Given the description of an element on the screen output the (x, y) to click on. 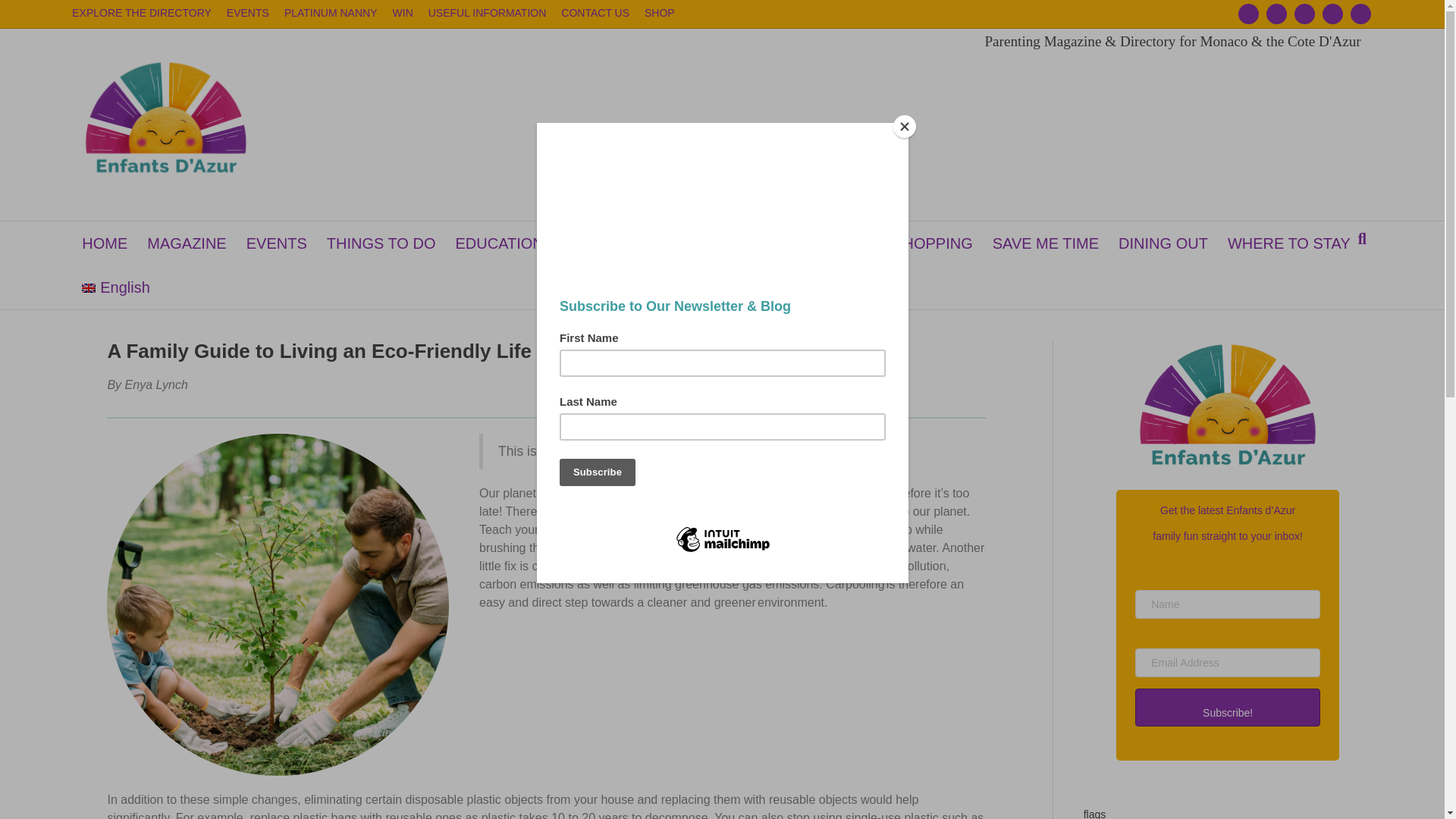
English (115, 287)
CONTACT US (595, 13)
PARTIES (655, 243)
DINING OUT (1162, 243)
WHERE TO STAY (1288, 243)
THINGS TO DO (381, 243)
SHOPPING (932, 243)
Facebook (1244, 14)
TREE ECO ARTICLE PHOTO resize (277, 604)
PLATINUM NANNY (330, 13)
